Given the description of an element on the screen output the (x, y) to click on. 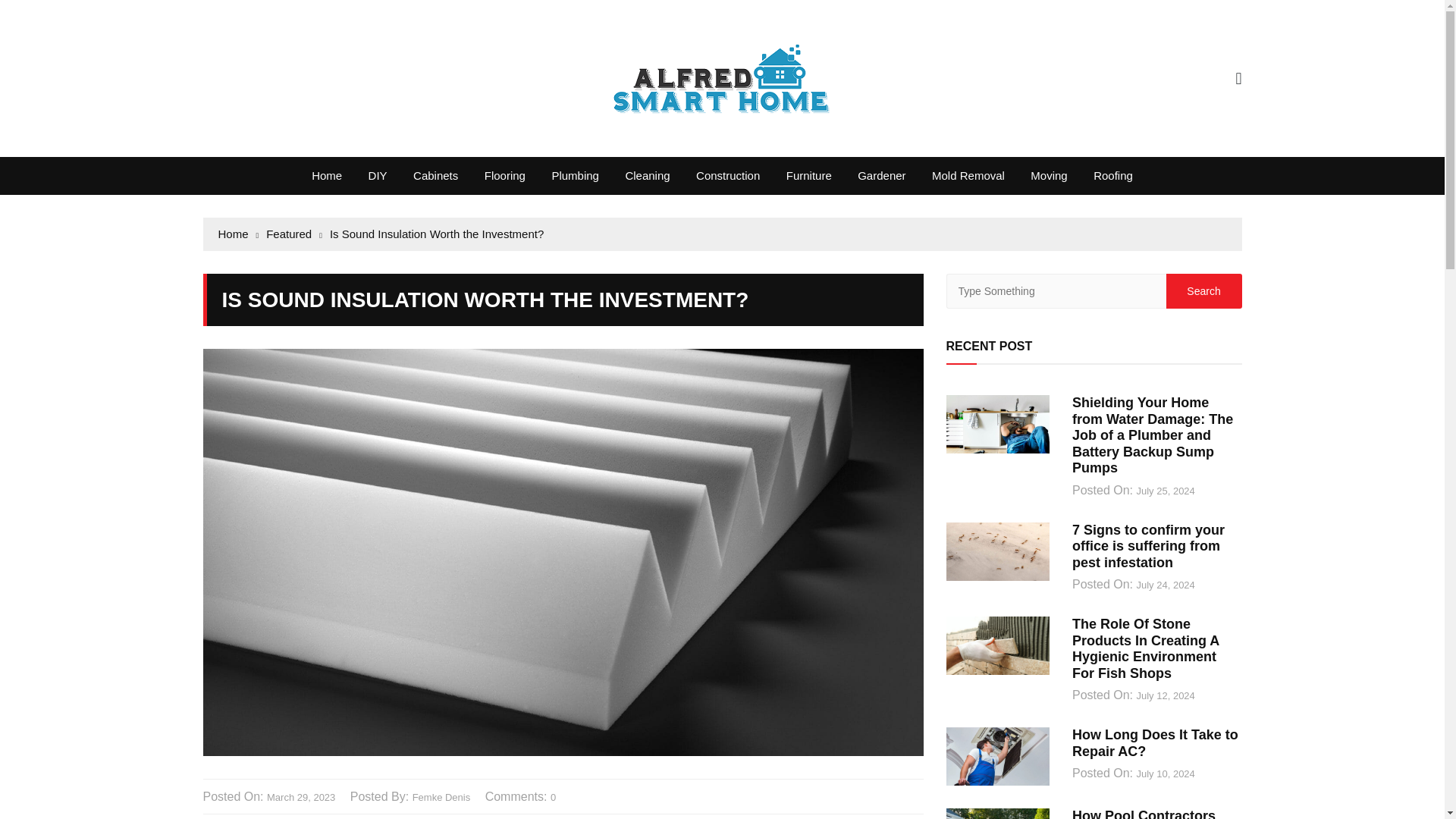
Cabinets (434, 175)
Plumbing (575, 175)
March 29, 2023 (300, 797)
Home (238, 234)
Search (1203, 290)
Moving (1048, 175)
Search (1203, 290)
Roofing (1112, 175)
Featured (293, 234)
Mold Removal (968, 175)
Furniture (808, 175)
July 24, 2024 (1164, 585)
Femke Denis (441, 797)
Home (326, 175)
